Given the description of an element on the screen output the (x, y) to click on. 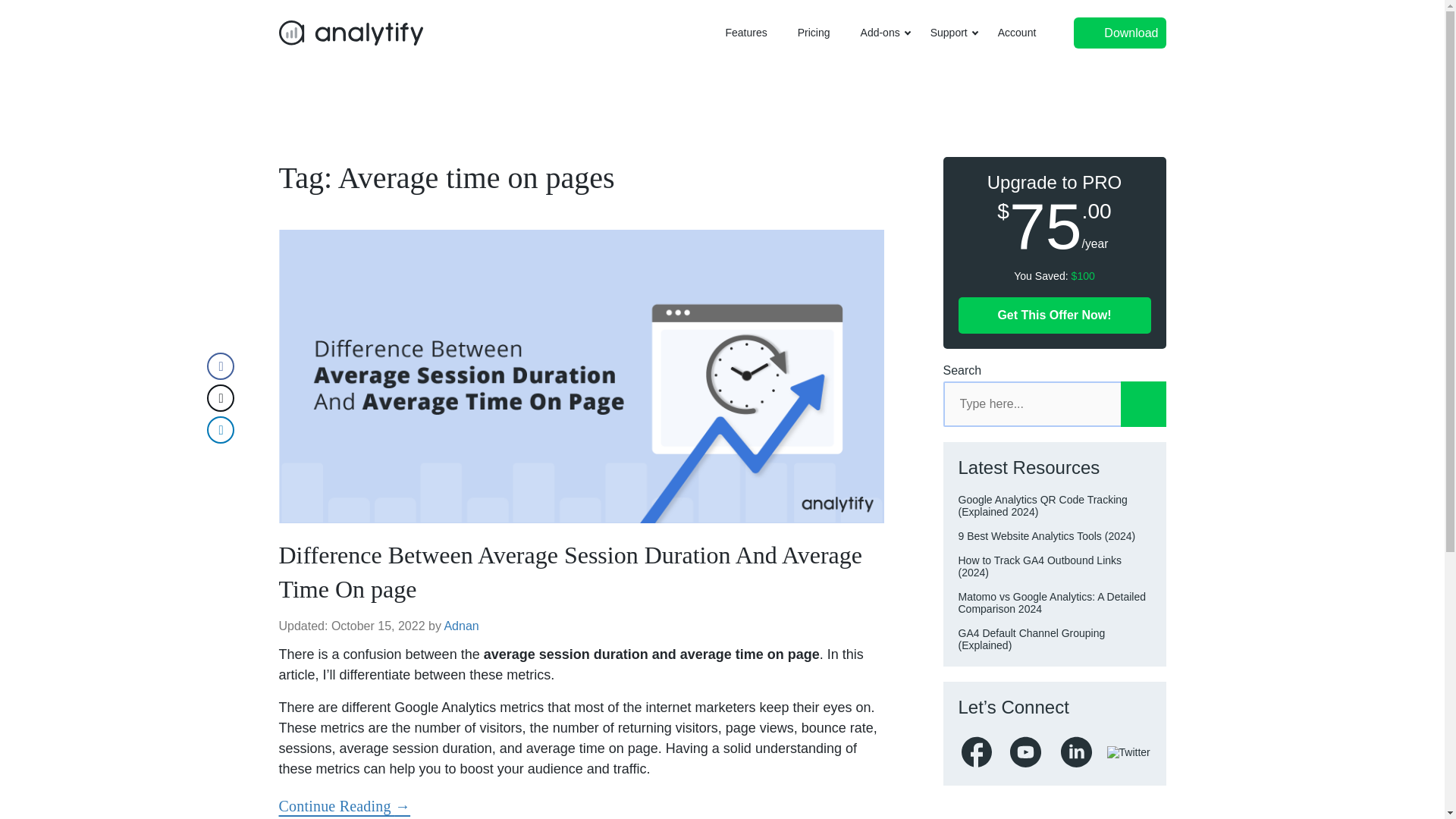
Features (745, 32)
Get This Offer Now! (1054, 315)
Adnan (461, 625)
Add-ons (880, 32)
Download (1120, 32)
Matomo vs Google Analytics: A Detailed Comparison 2024 (1051, 602)
Support (949, 32)
Account (1016, 32)
Search (1143, 403)
Pricing (814, 32)
Your Account (1016, 32)
Analytify Support Panel (949, 32)
Search (1143, 403)
